Given the description of an element on the screen output the (x, y) to click on. 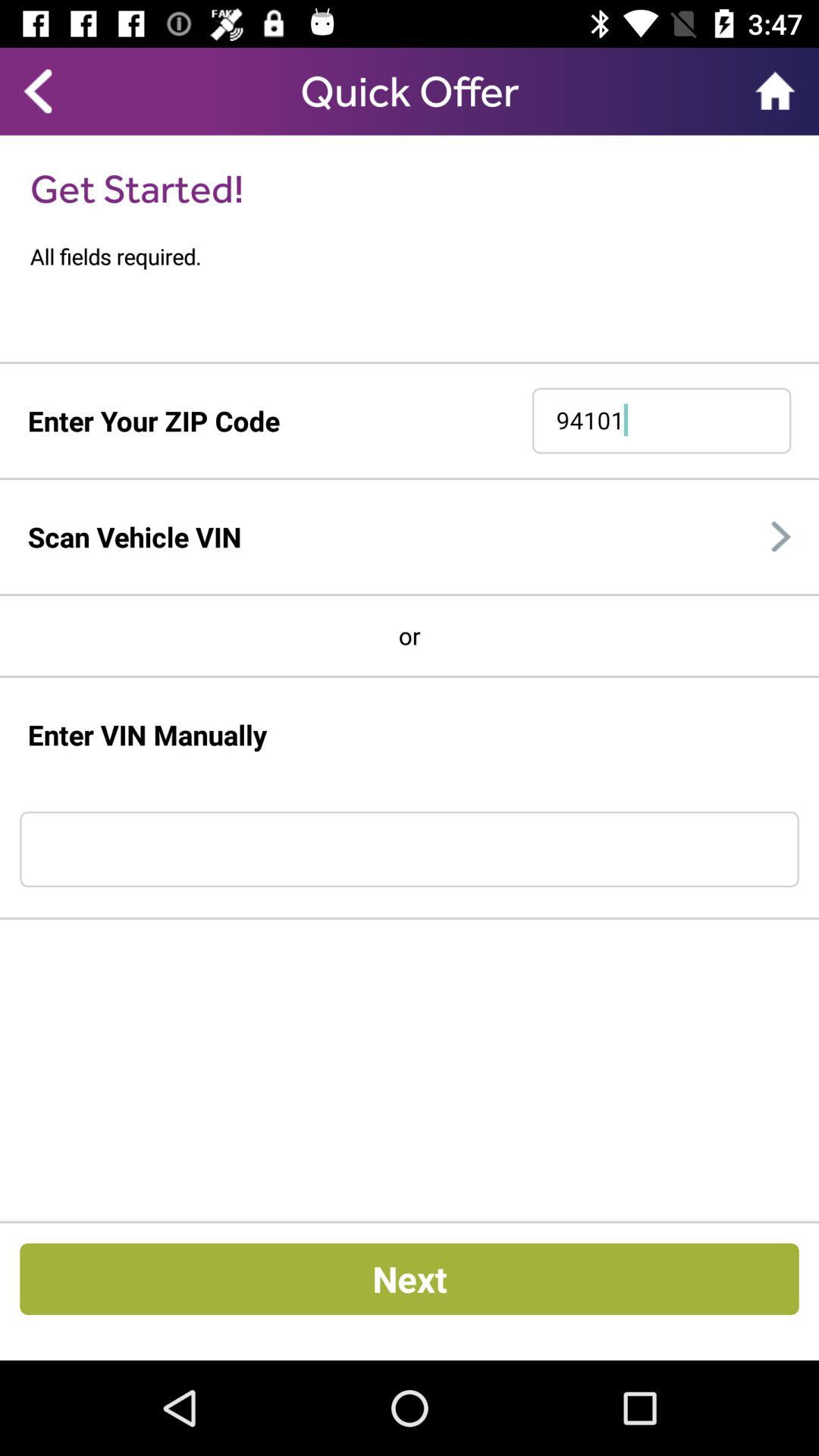
choose the enter vin manually (147, 734)
